Given the description of an element on the screen output the (x, y) to click on. 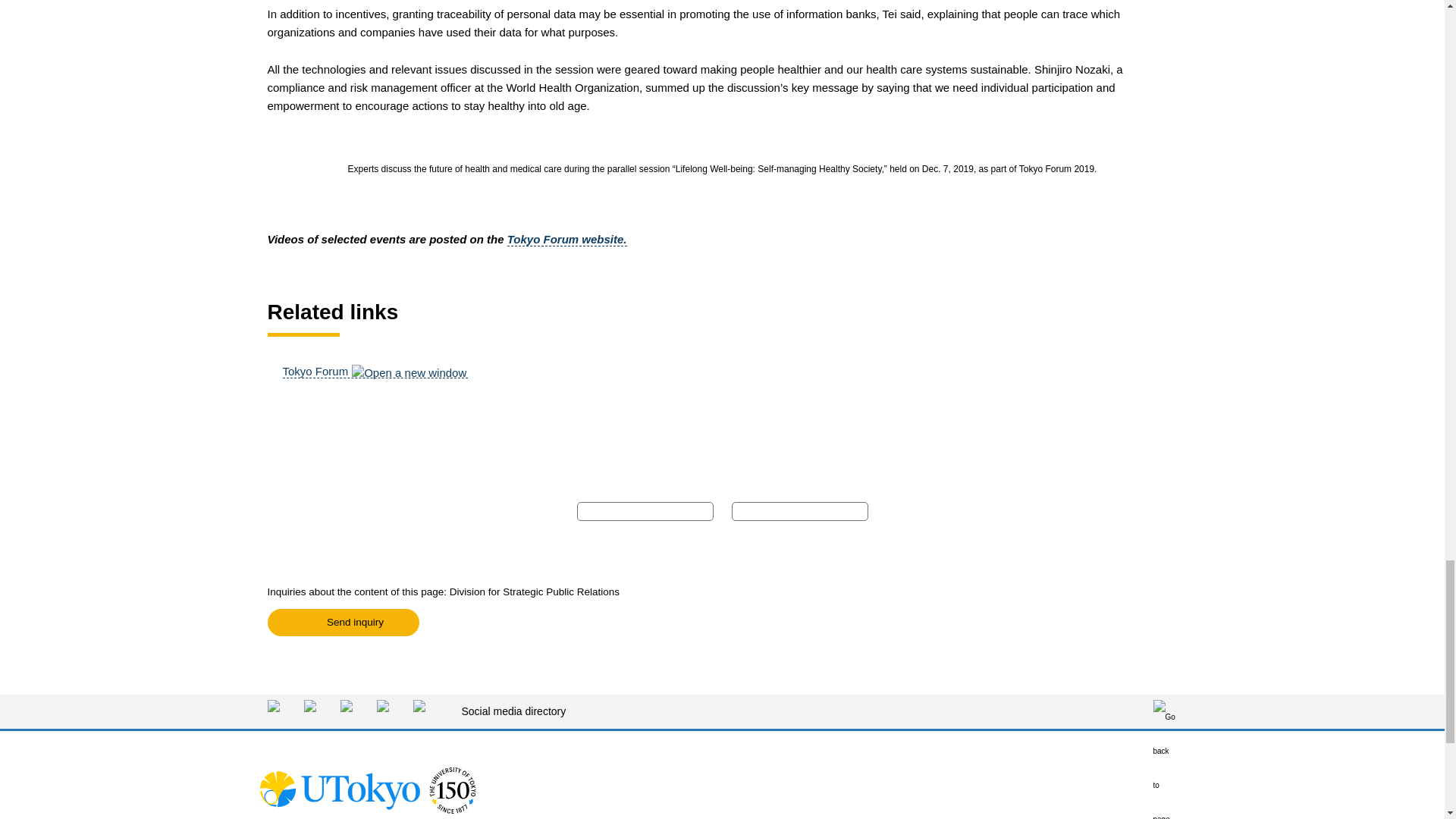
Open a new window (342, 622)
